Given the description of an element on the screen output the (x, y) to click on. 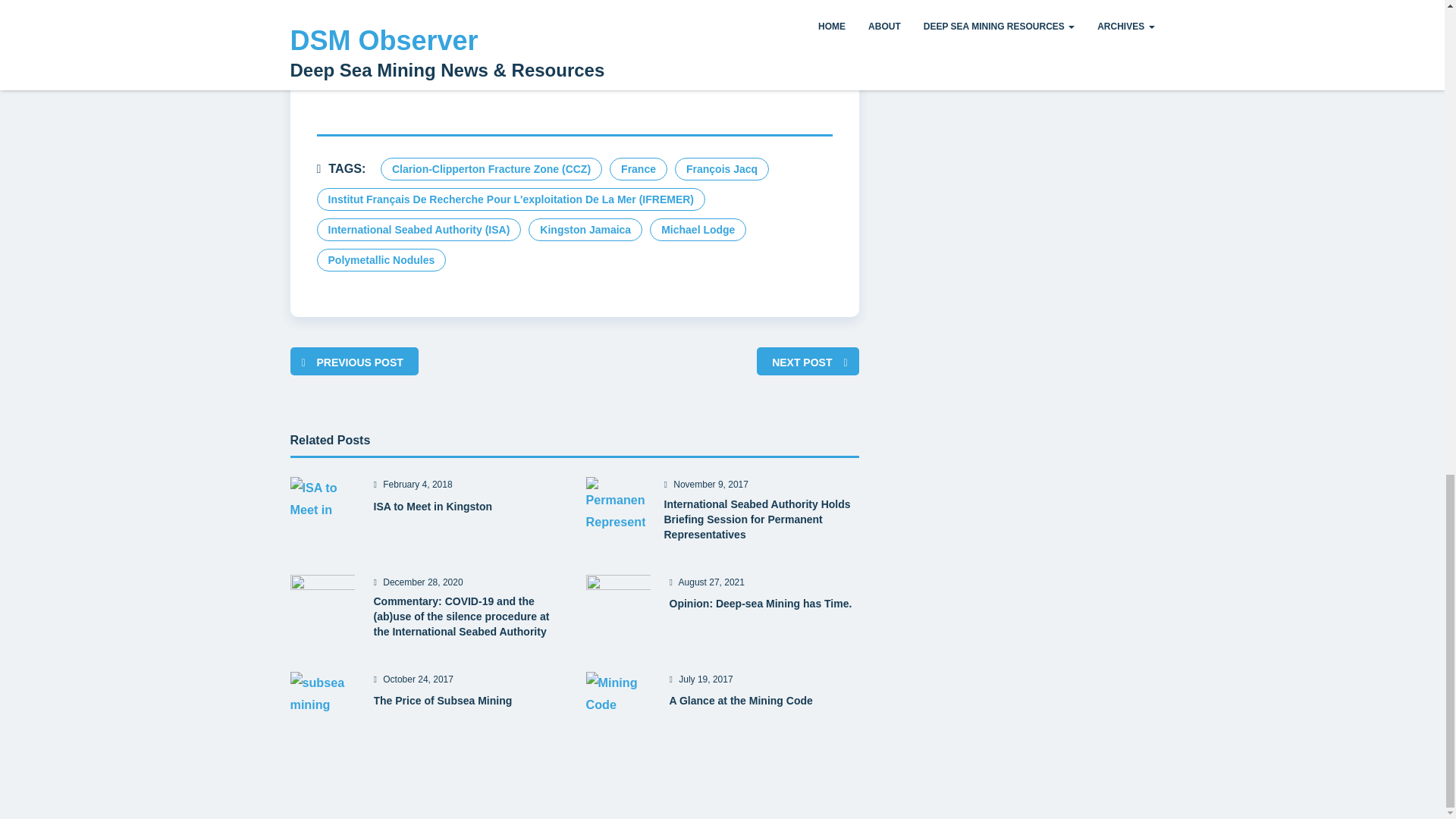
The Price of Subsea Mining (442, 701)
PREVIOUS POST (360, 362)
ISA to Meet in Kingston (432, 507)
Kingston Jamaica (585, 229)
Michael Lodge (697, 229)
France (638, 169)
Polymetallic Nodules (381, 259)
Opinion: Deep-sea Mining has Time. (759, 604)
NEXT POST (801, 362)
